Given the description of an element on the screen output the (x, y) to click on. 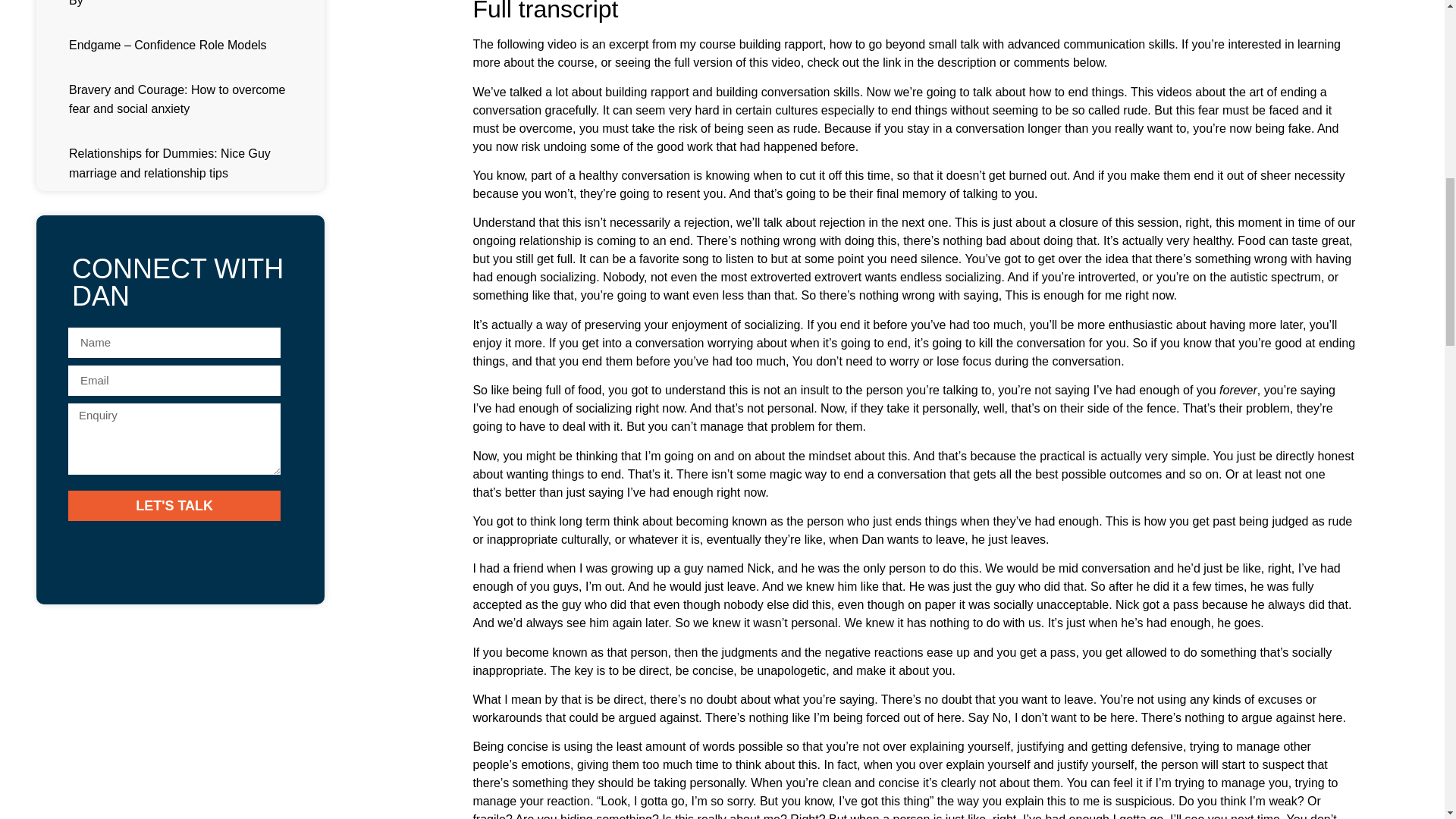
Does asking questions make you a judgmental person? (215, 110)
Finding Your Integrity: Core Values to Live By (188, 489)
Group Dynamics: Introvert vs Extrovert (171, 171)
Bravery and Courage: How to overcome fear and social anxiety (236, 551)
Quantum Parts Courage: Definition of Bravery (190, 48)
